Given the description of an element on the screen output the (x, y) to click on. 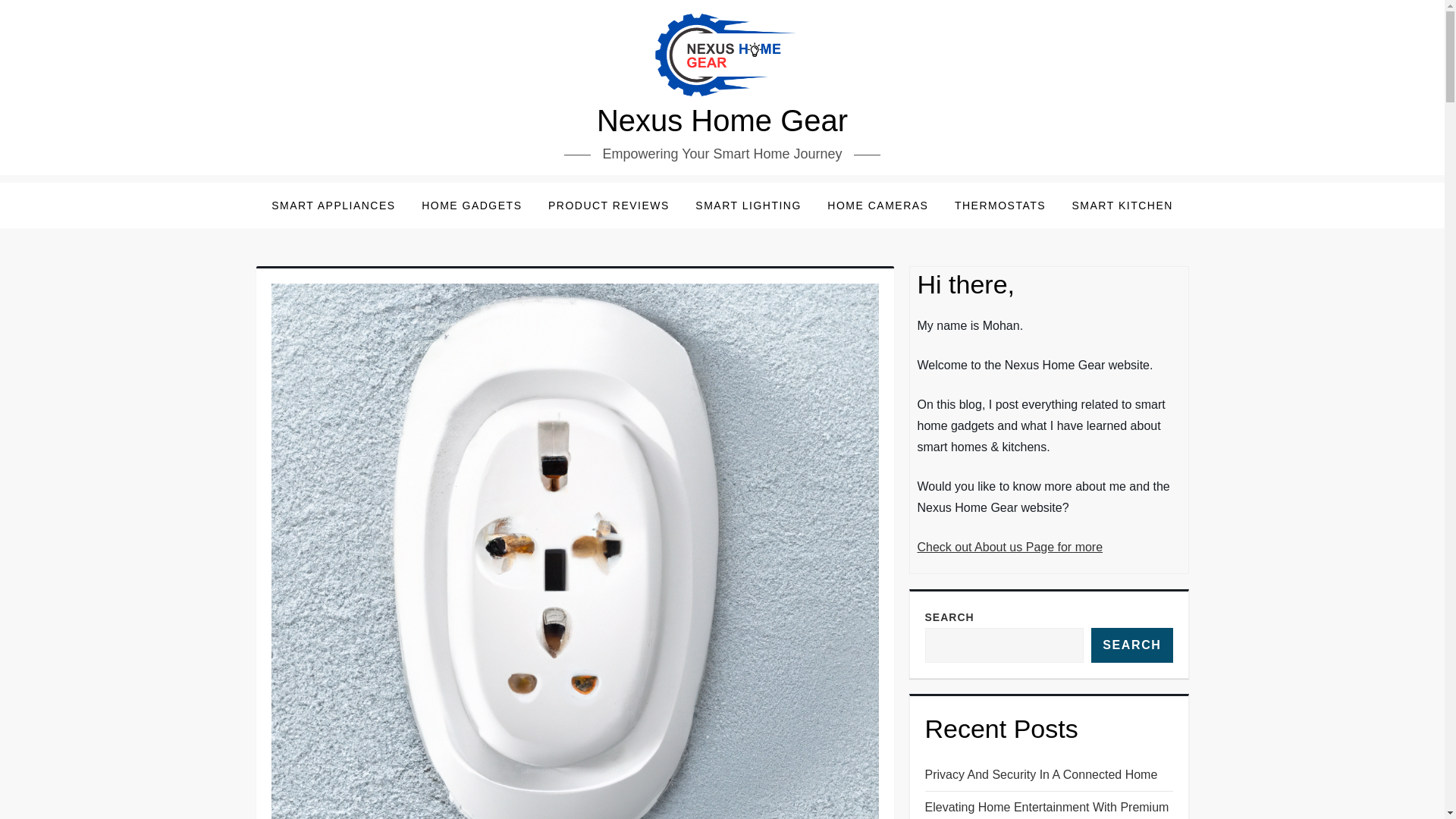
SMART APPLIANCES (333, 205)
Nexus Home Gear (721, 120)
PRODUCT REVIEWS (609, 205)
SMART KITCHEN (1123, 205)
SMART LIGHTING (748, 205)
HOME GADGETS (471, 205)
THERMOSTATS (1000, 205)
HOME CAMERAS (877, 205)
